Given the description of an element on the screen output the (x, y) to click on. 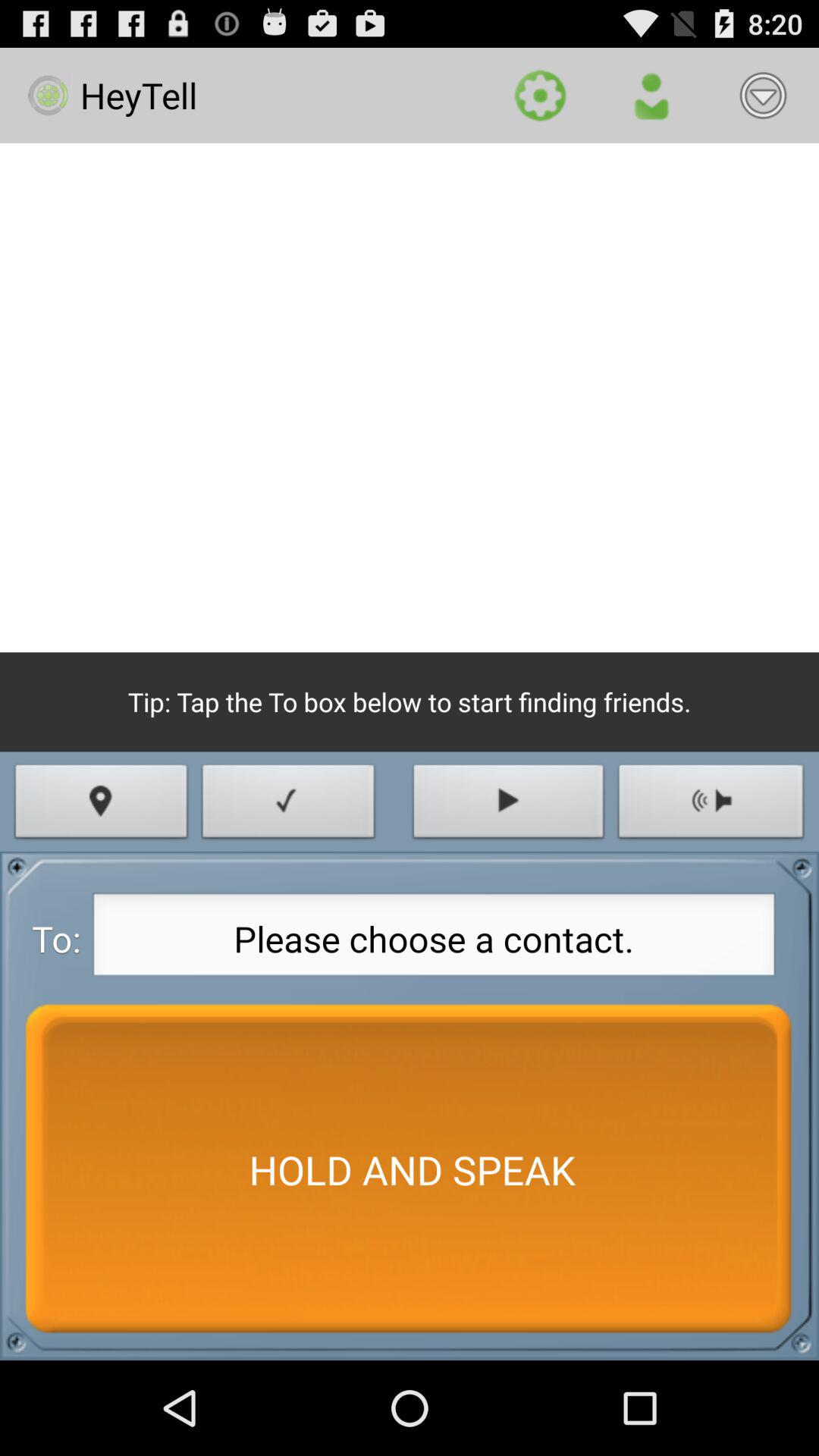
click the please choose a app (433, 938)
